Given the description of an element on the screen output the (x, y) to click on. 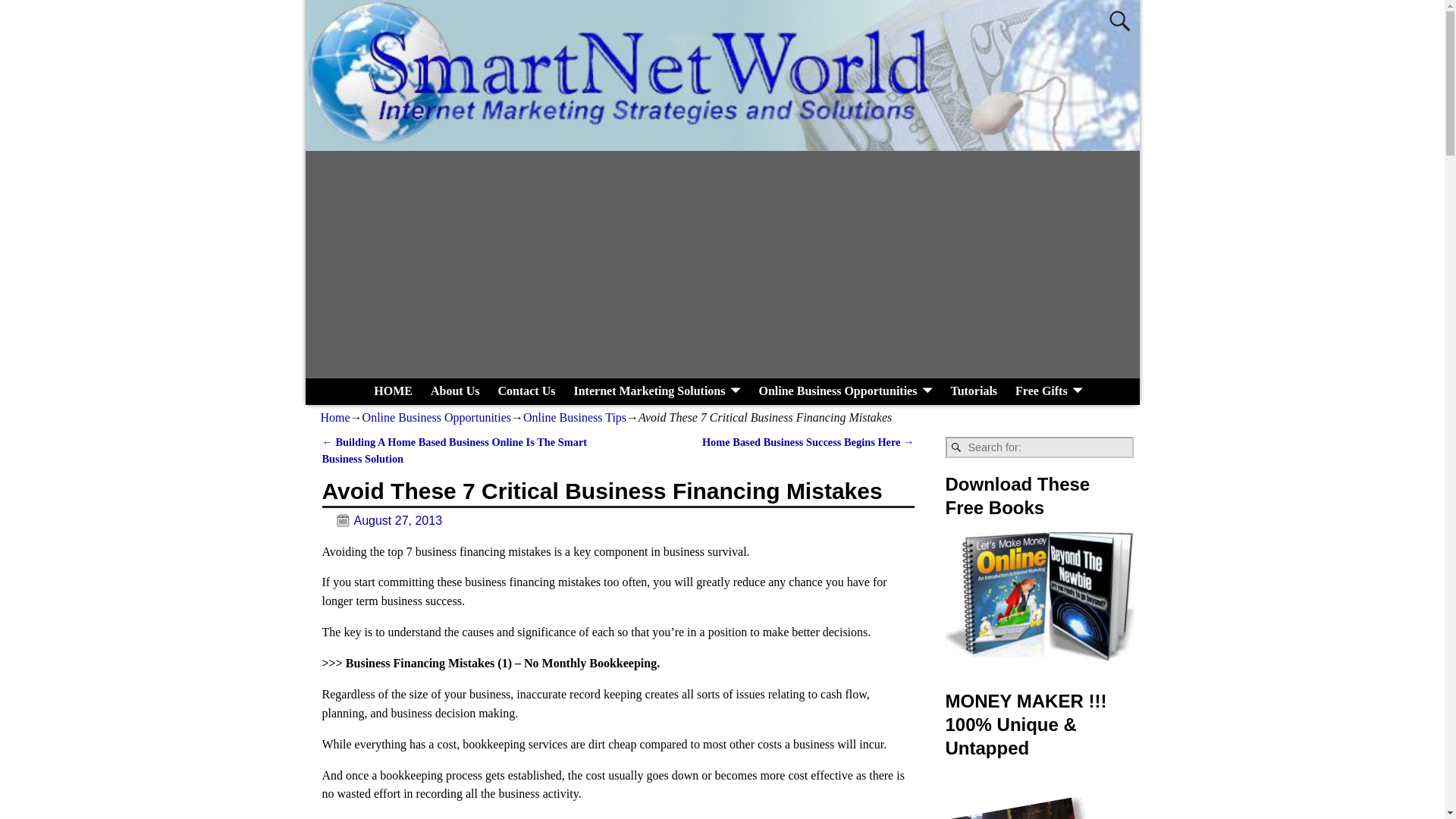
Free Gifts (1049, 390)
Online Business Opportunities (436, 417)
Online Business Opportunities (844, 390)
8:07 pm (381, 520)
Online Business Tips (574, 417)
Contact Us (525, 390)
Home (334, 417)
August 27, 2013 (381, 520)
